Given the description of an element on the screen output the (x, y) to click on. 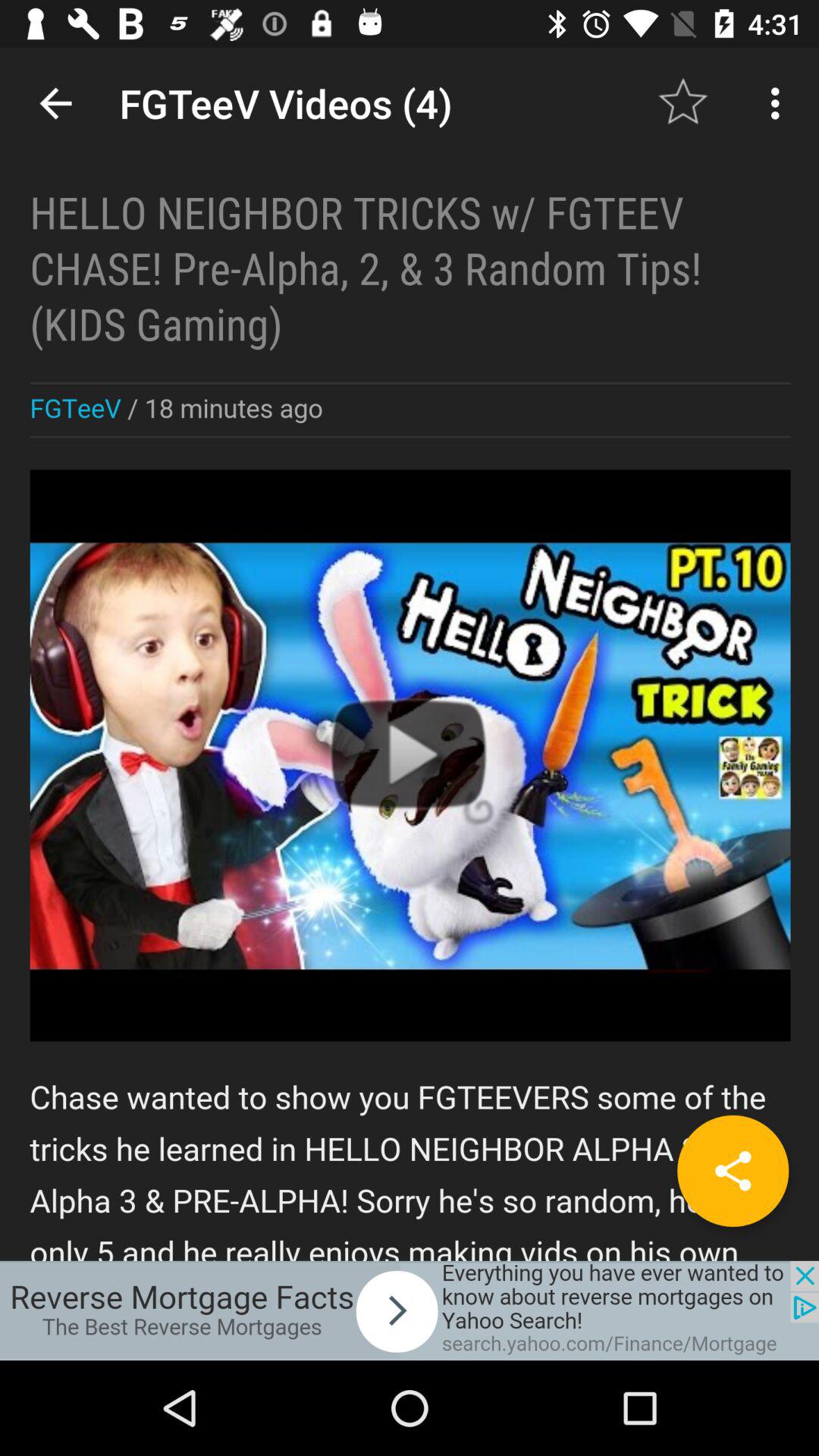
open advertisement (409, 1310)
